Given the description of an element on the screen output the (x, y) to click on. 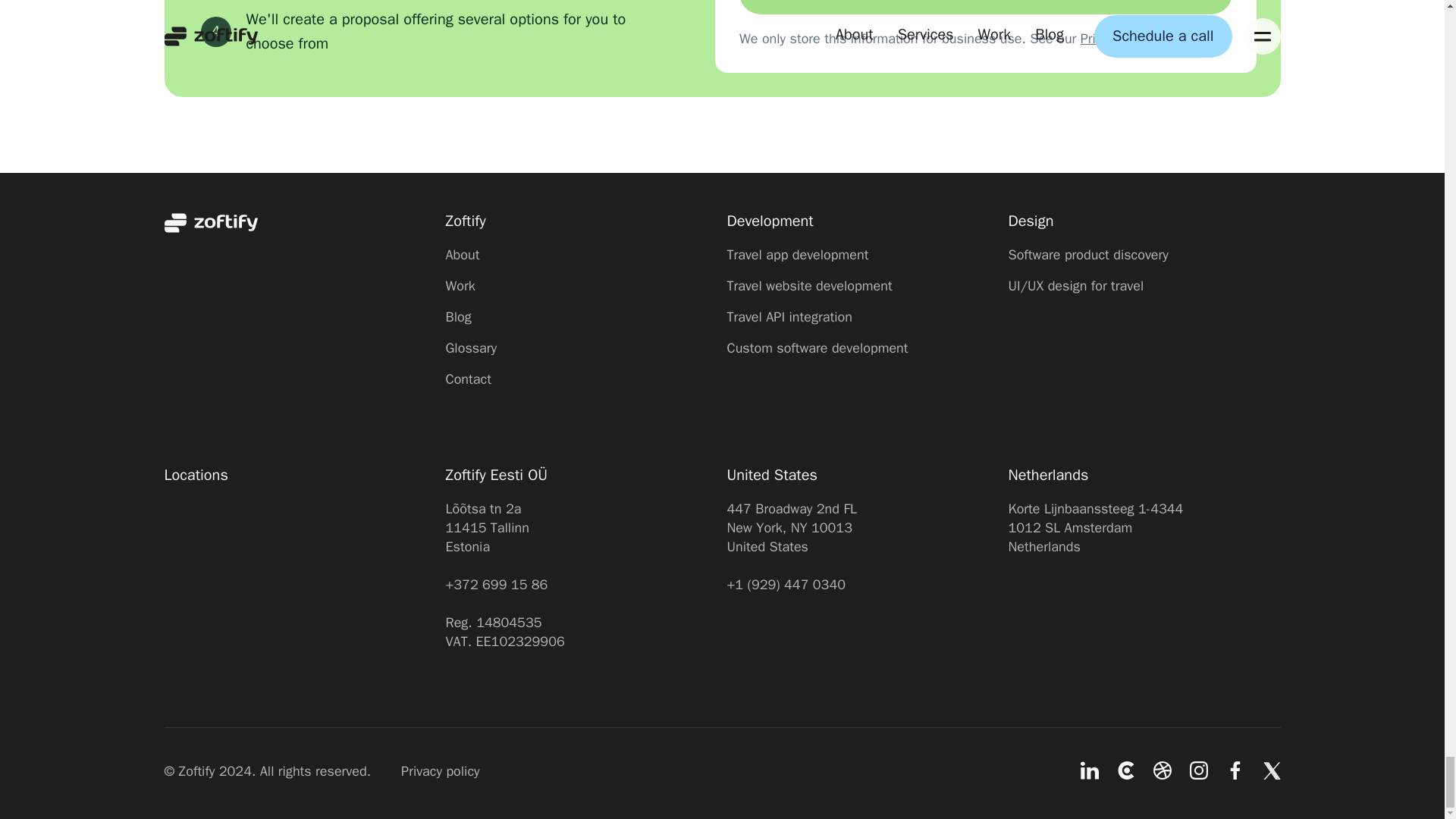
Send (985, 7)
Blog (581, 316)
Work (581, 285)
Privacy Policy (1119, 38)
Travel app development (862, 254)
Contact (581, 379)
About (581, 254)
Glossary (581, 348)
